Given the description of an element on the screen output the (x, y) to click on. 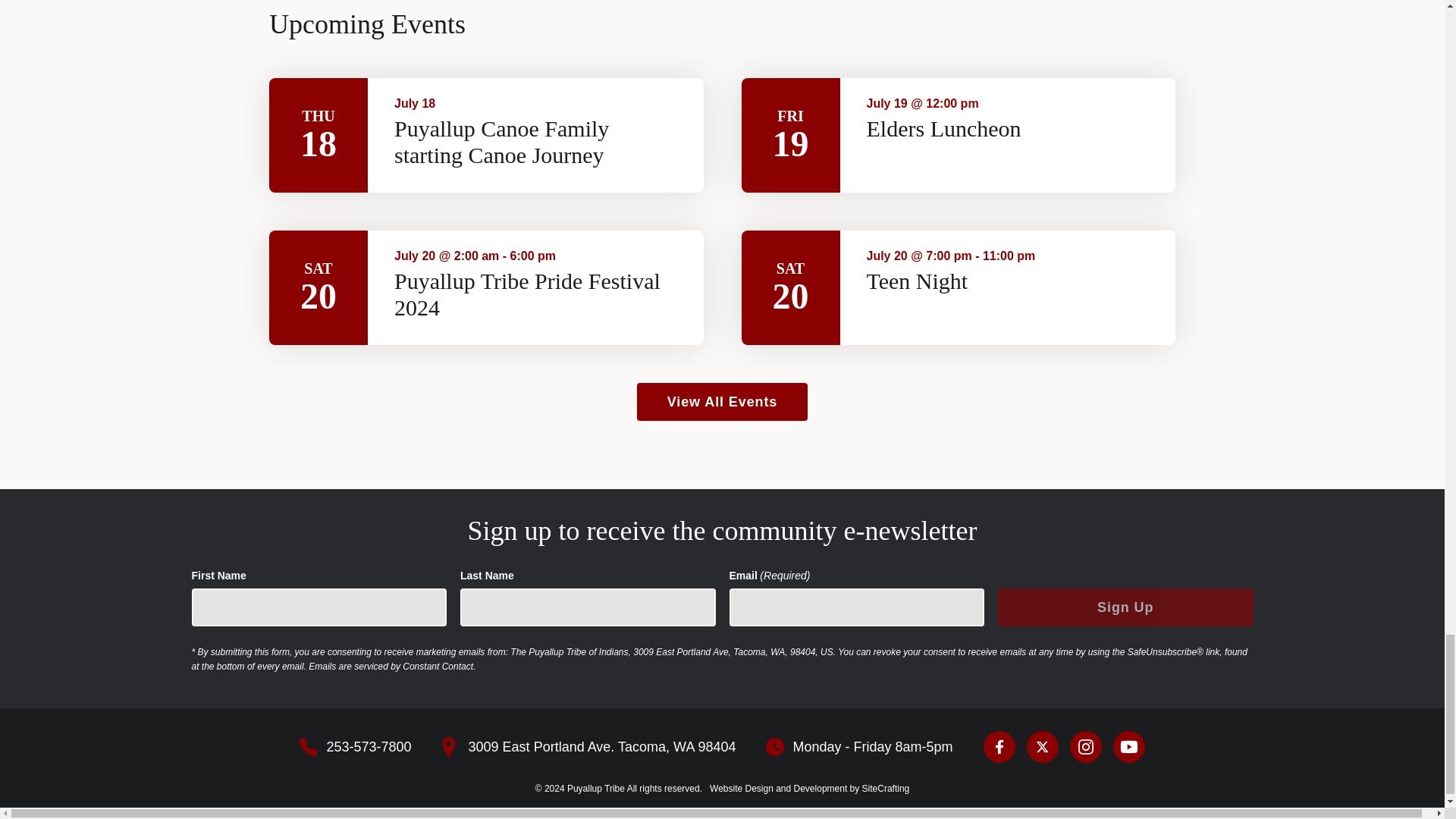
youtube (1128, 746)
x (1042, 746)
instagram (1086, 746)
facebook (999, 746)
